Given the description of an element on the screen output the (x, y) to click on. 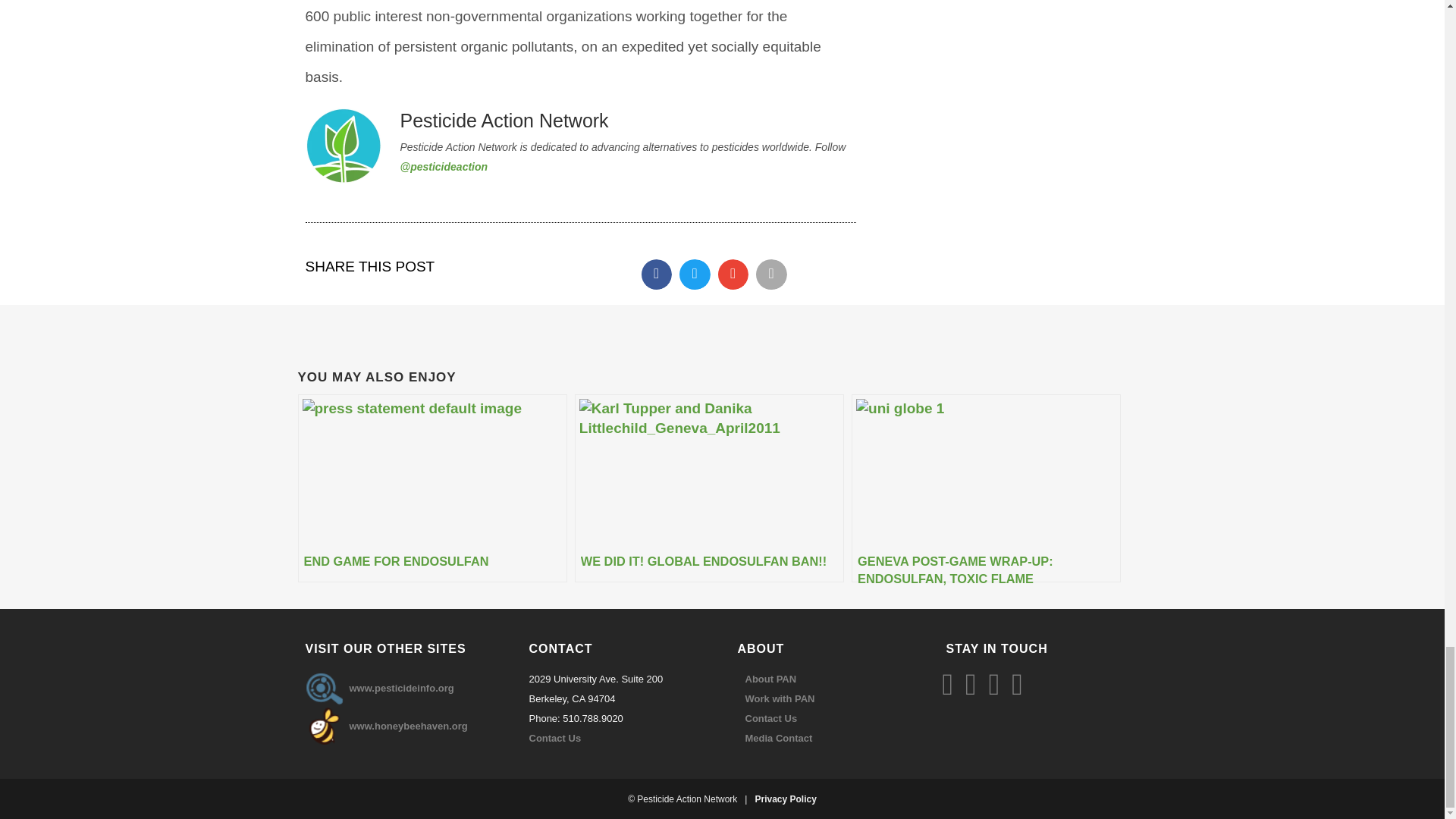
We did it! Global endosulfan ban!! (709, 487)
End game for endosulfan (431, 487)
